Given the description of an element on the screen output the (x, y) to click on. 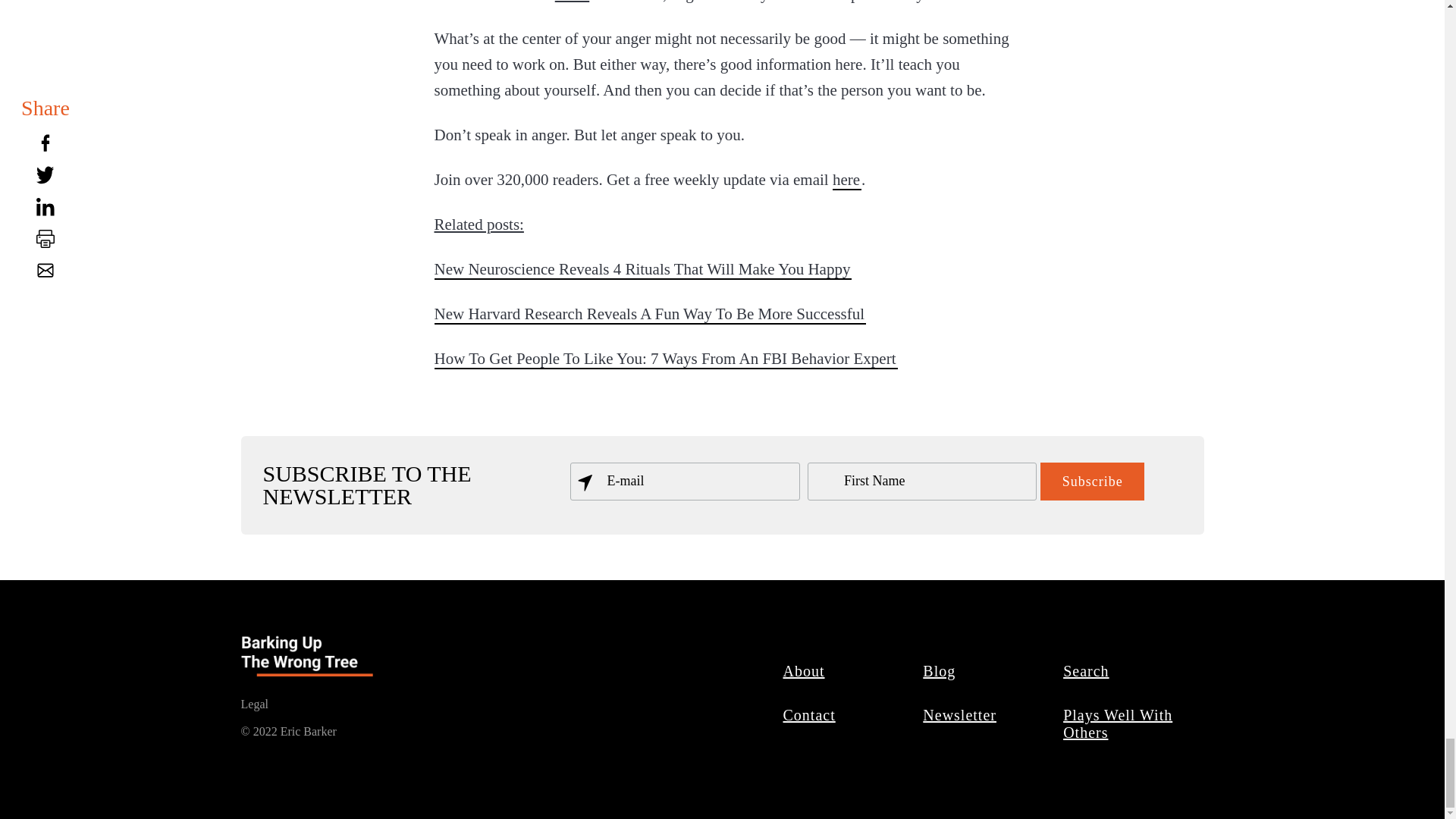
Subscribe (1092, 481)
New Neuroscience Reveals 4 Rituals That Will Make You Happy (642, 269)
New Harvard Research Reveals A Fun Way To Be More Successful (649, 313)
Subscribe (1092, 481)
here (846, 179)
